Given the description of an element on the screen output the (x, y) to click on. 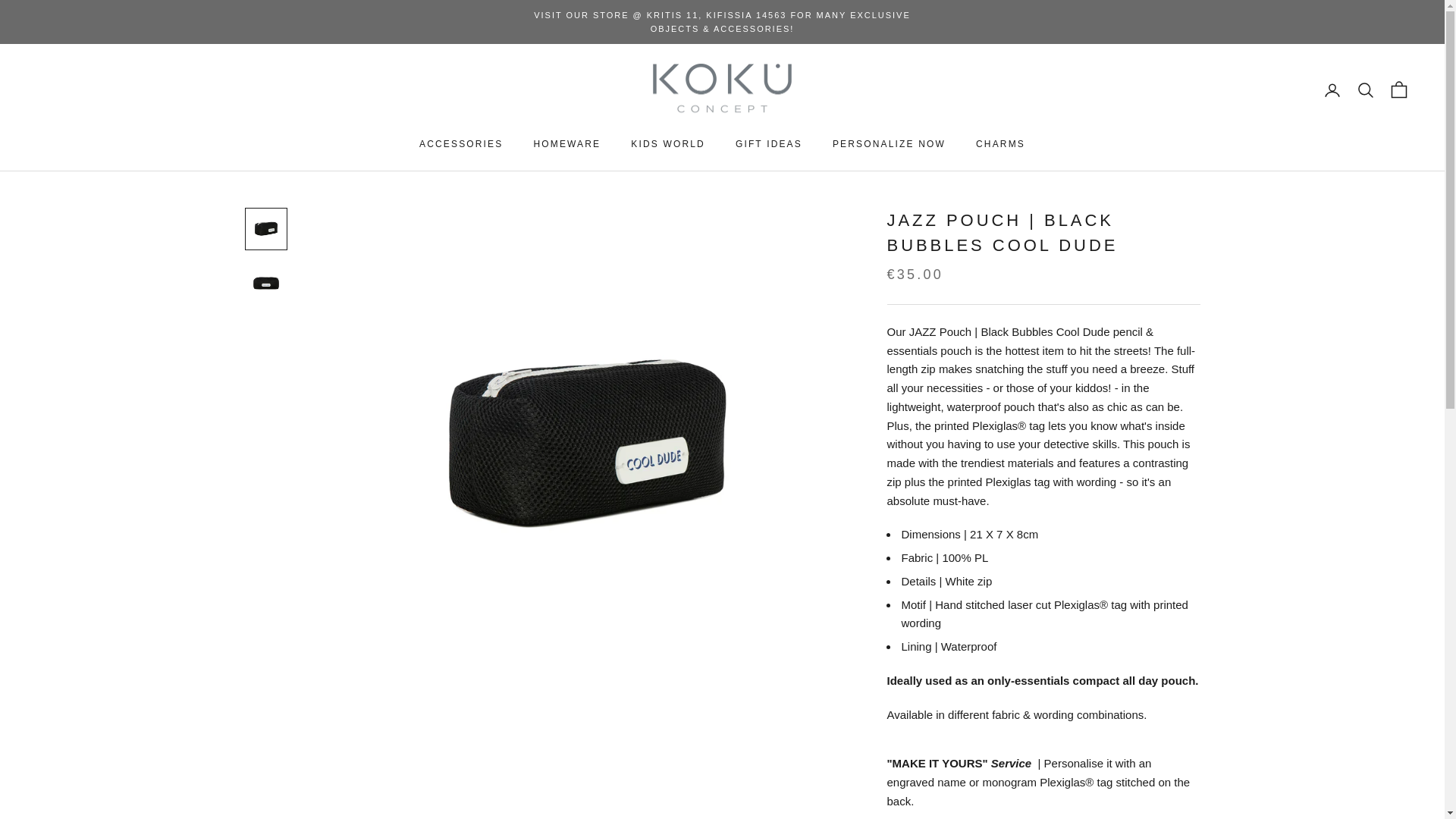
Open search (1365, 90)
PERSONALIZE NOW (888, 143)
Open account page (1331, 90)
Open cart (1398, 90)
CHARMS (1000, 143)
KOKU Concept (722, 90)
KIDS WORLD (667, 143)
